Given the description of an element on the screen output the (x, y) to click on. 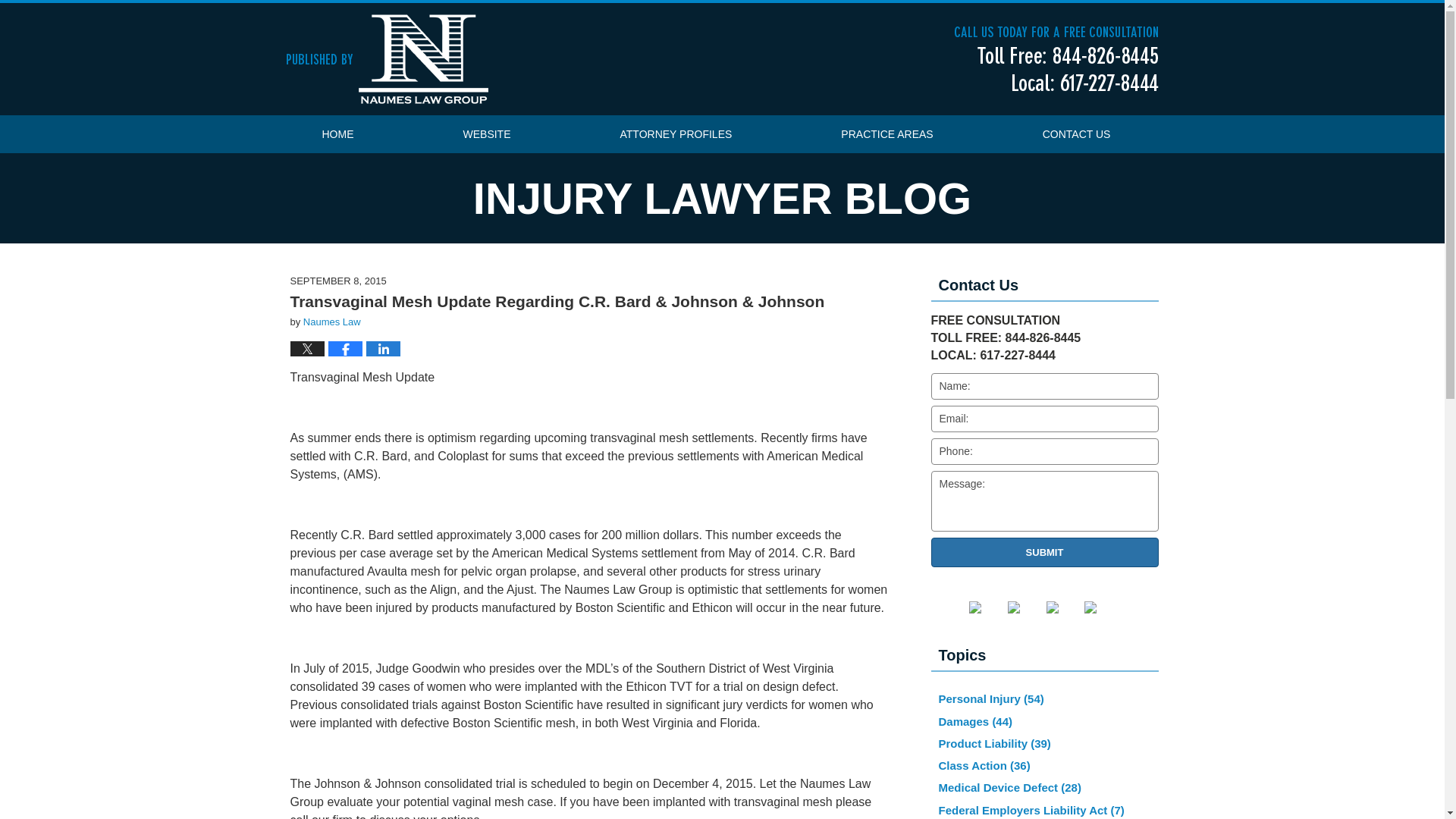
ATTORNEY PROFILES (676, 134)
HOME (336, 134)
PRACTICE AREAS (886, 134)
Naumes Law (331, 321)
Justia (1063, 607)
Injury Lawyer Blog (386, 59)
SUBMIT (1044, 552)
Feed (1101, 607)
Please enter a valid phone number. (1044, 451)
LinkedIn (1025, 607)
